Given the description of an element on the screen output the (x, y) to click on. 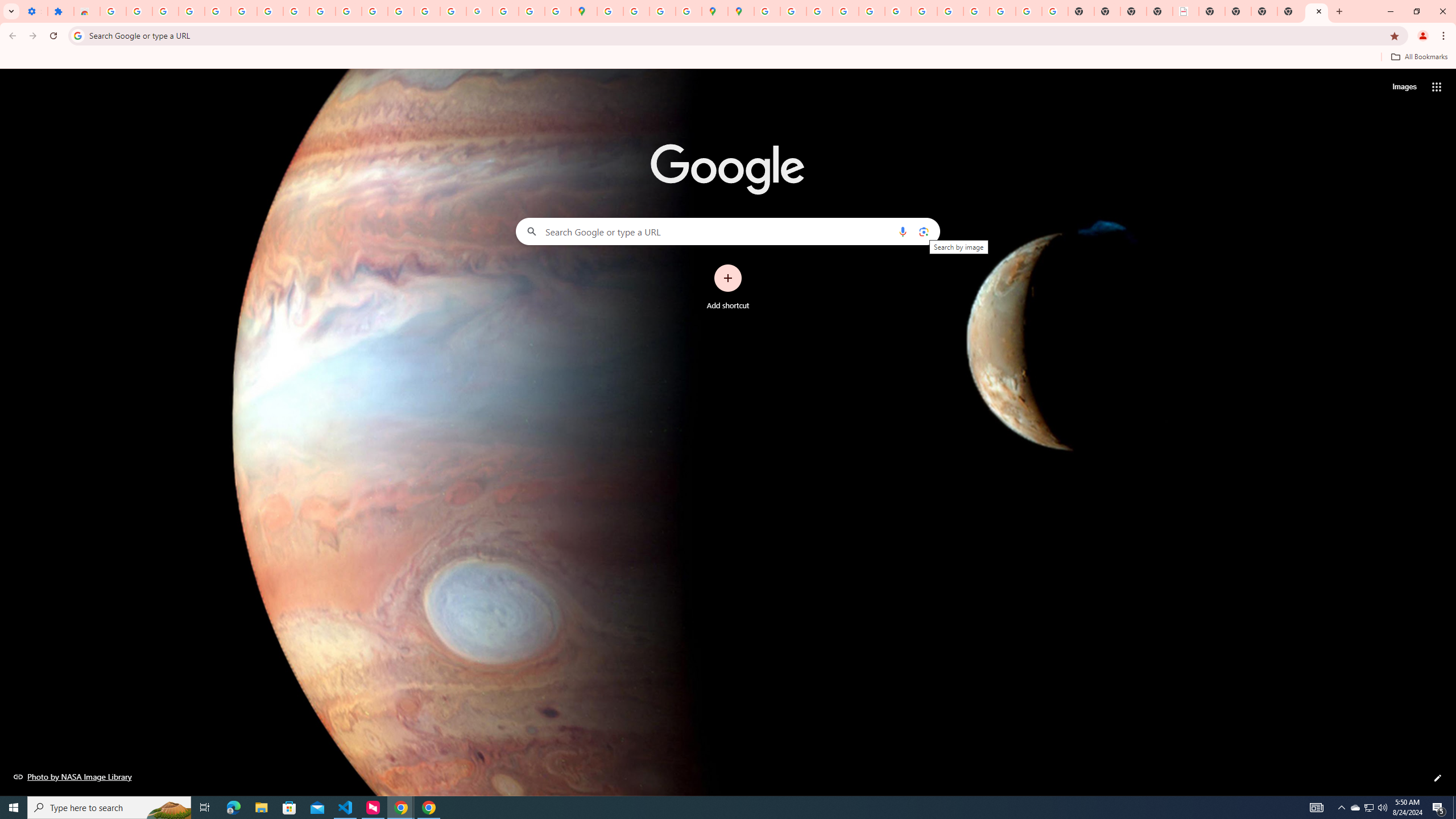
Sign in - Google Accounts (766, 11)
Search by voice (902, 230)
Settings - On startup (34, 11)
Delete photos & videos - Computer - Google Photos Help (165, 11)
Search by image (922, 230)
